Given the description of an element on the screen output the (x, y) to click on. 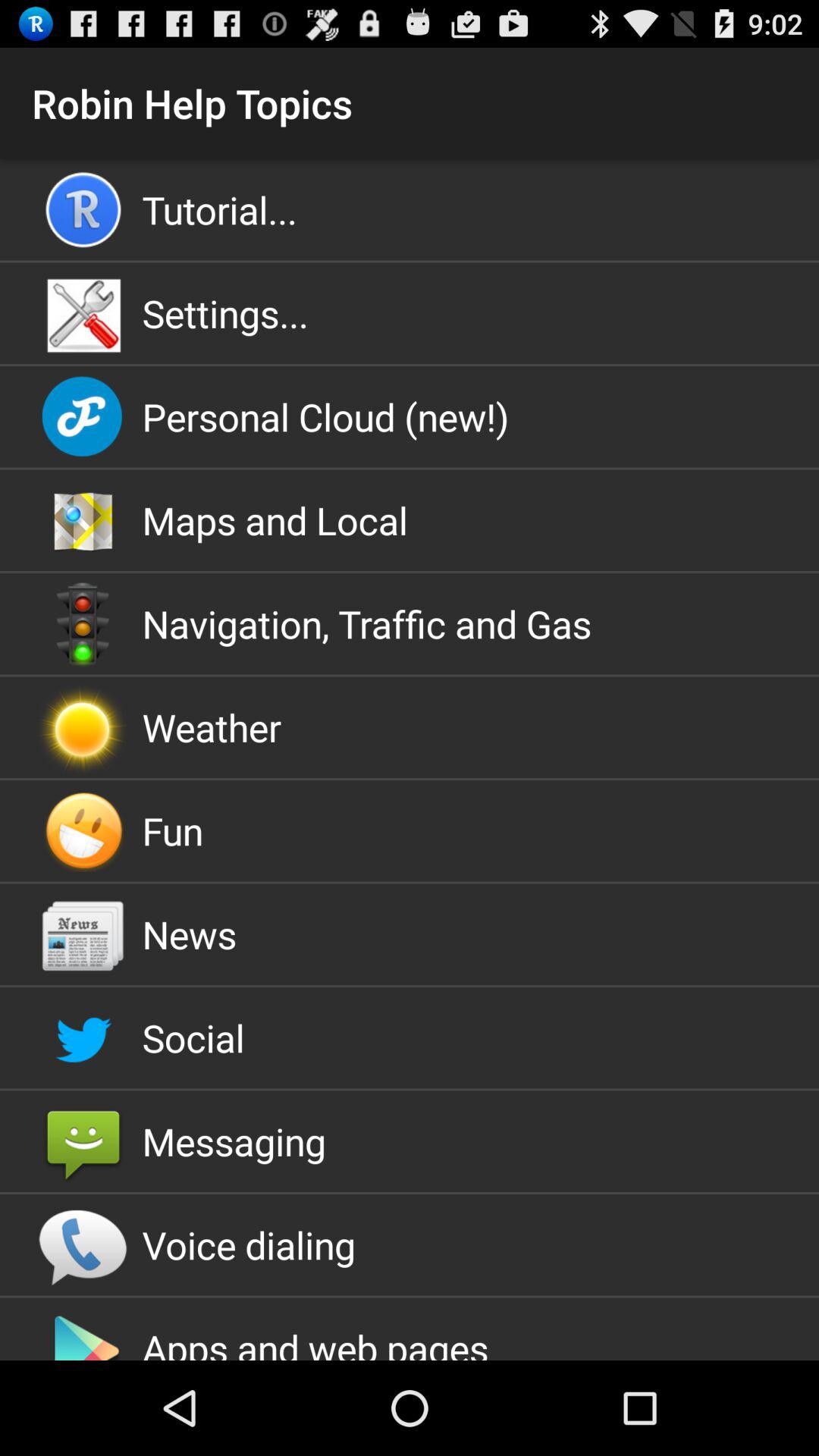
tap app below the  voice dialing icon (409, 1328)
